Given the description of an element on the screen output the (x, y) to click on. 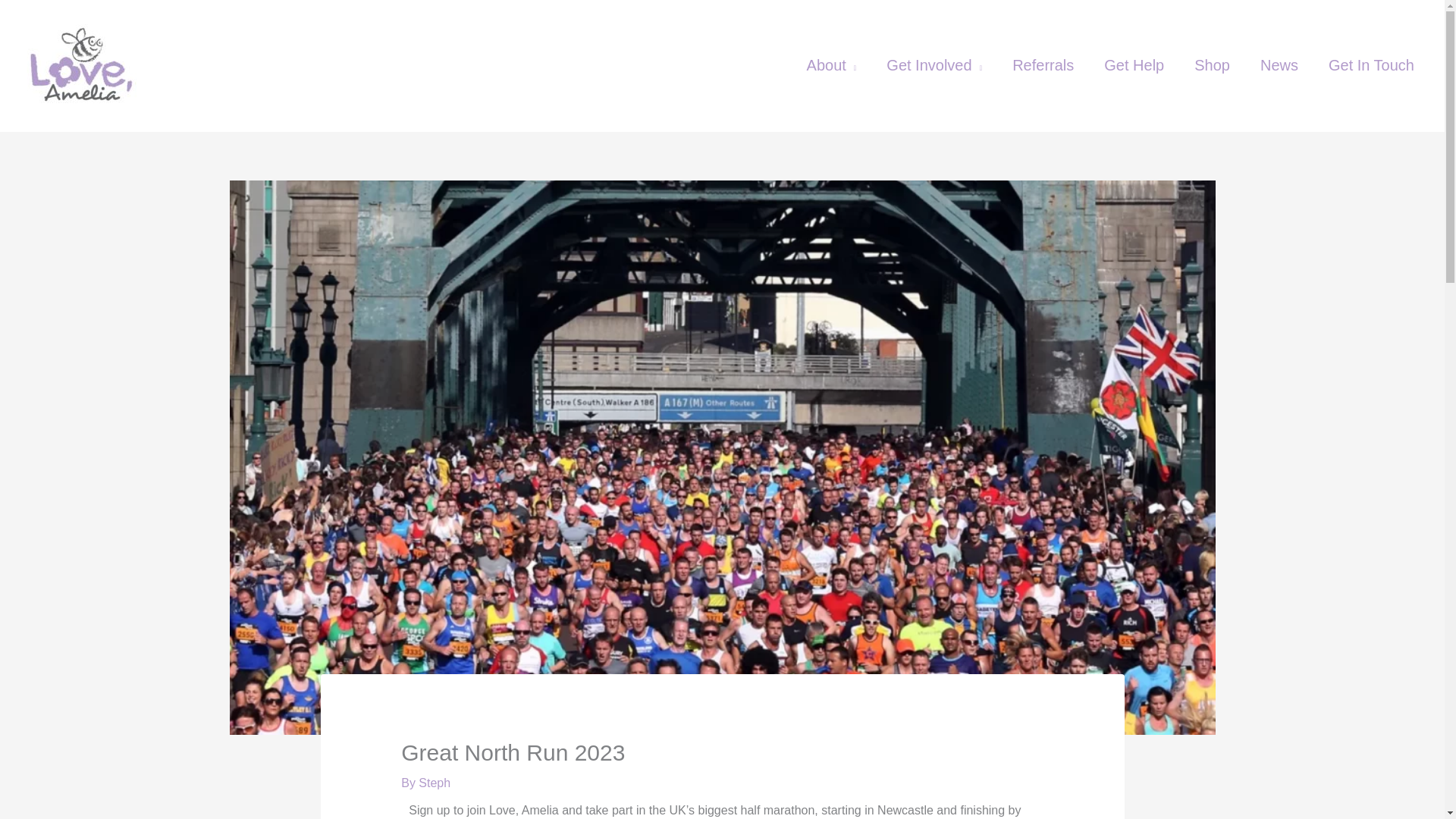
Get Help (1134, 65)
Get Involved (933, 65)
Get In Touch (1371, 65)
View all posts by Steph (434, 782)
News (1278, 65)
About (832, 65)
Referrals (1043, 65)
Shop (1211, 65)
